Given the description of an element on the screen output the (x, y) to click on. 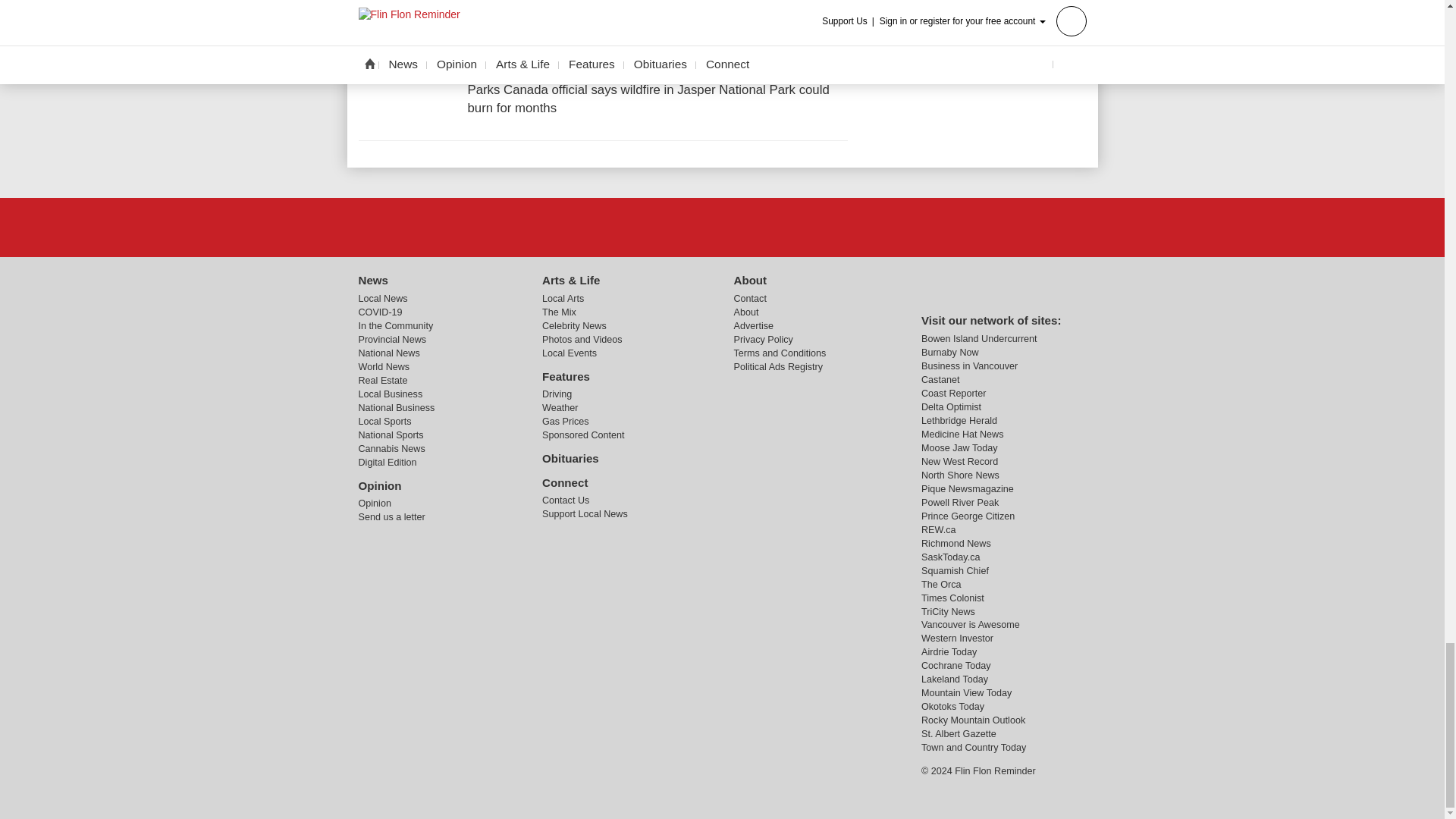
Facebook (721, 226)
